Given the description of an element on the screen output the (x, y) to click on. 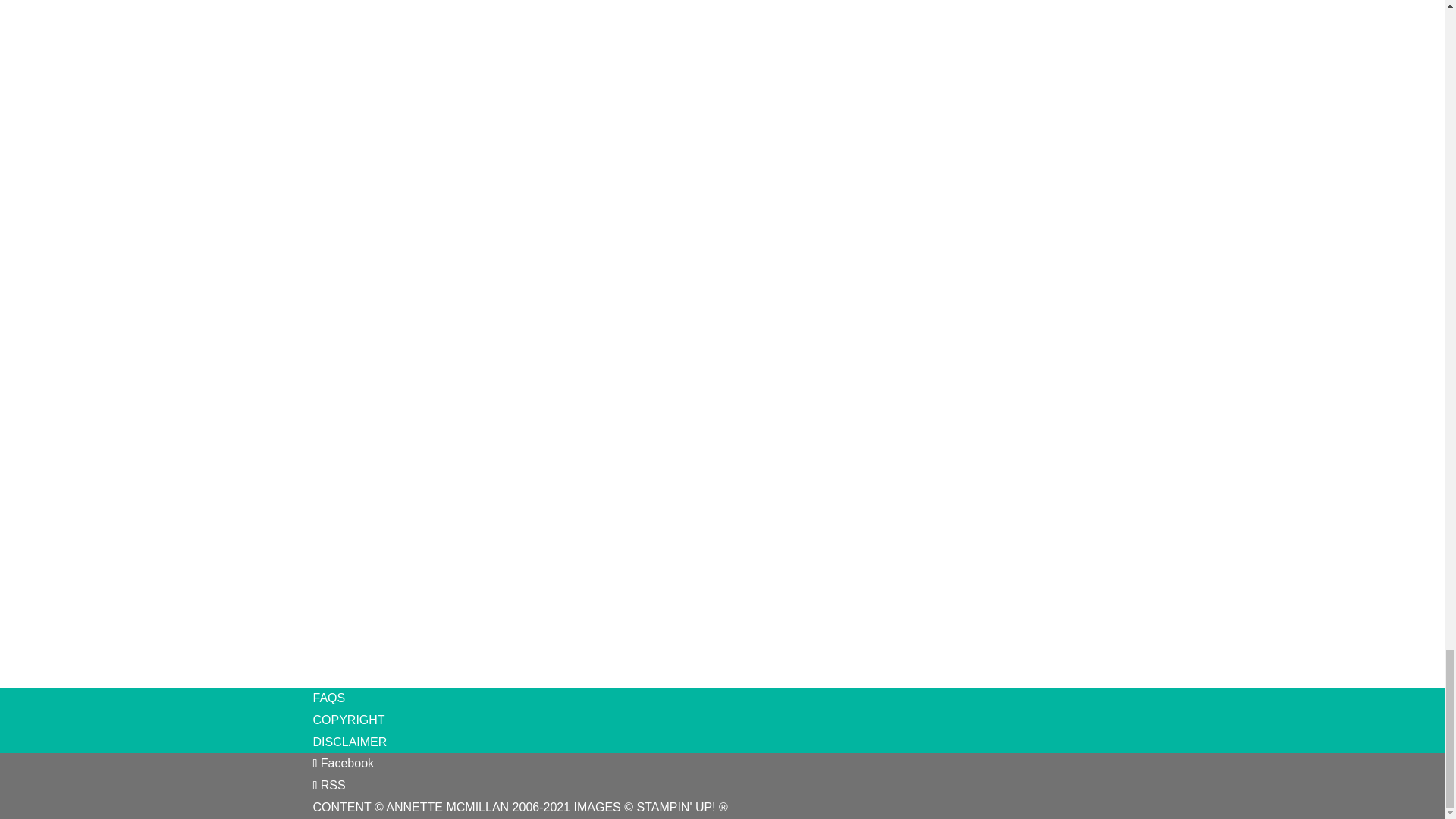
DISCLAIMER (350, 741)
Facebook (343, 762)
FAQS (329, 697)
RSS (329, 784)
COPYRIGHT (348, 719)
